Given the description of an element on the screen output the (x, y) to click on. 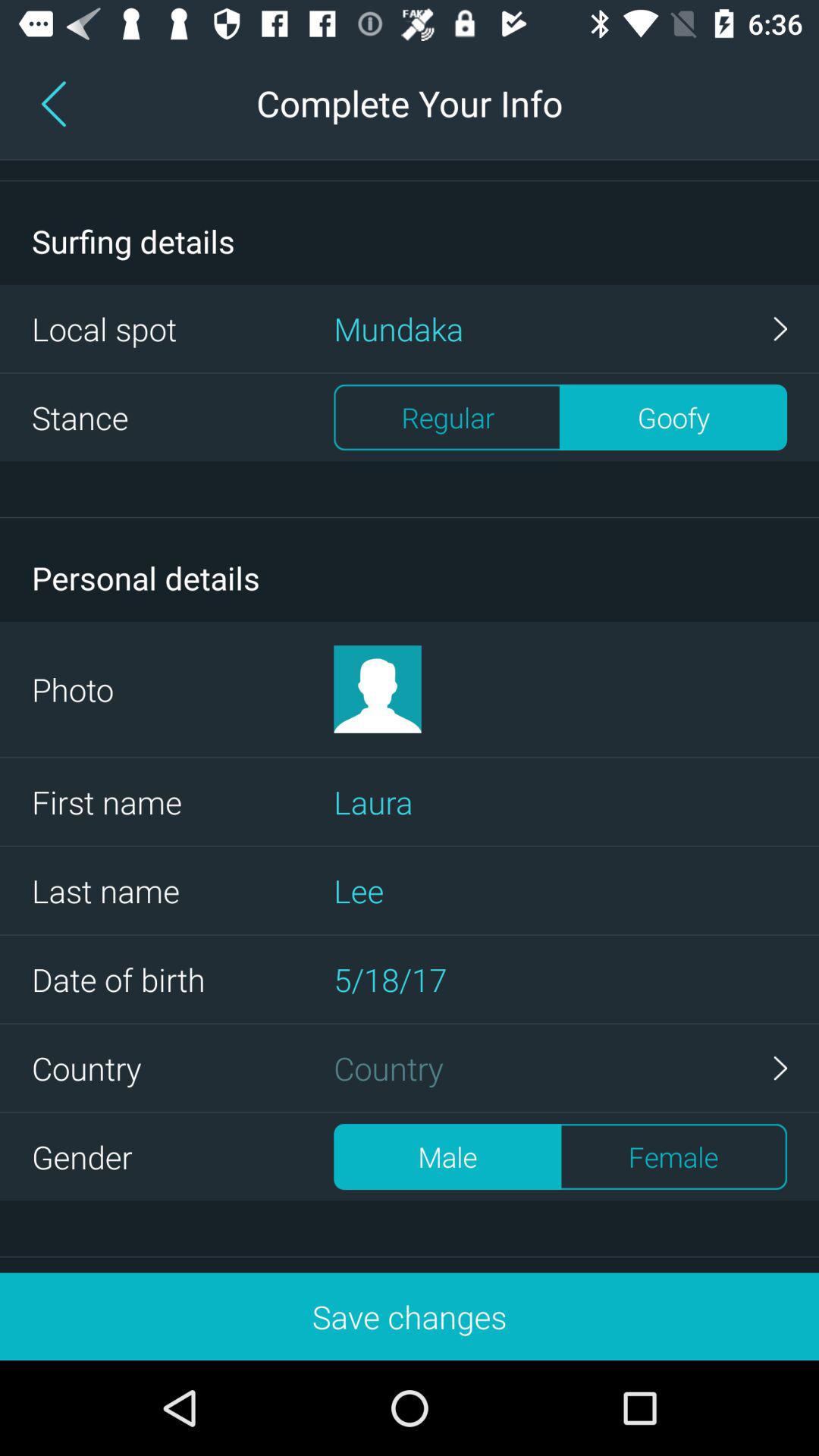
display country list (560, 1067)
